Given the description of an element on the screen output the (x, y) to click on. 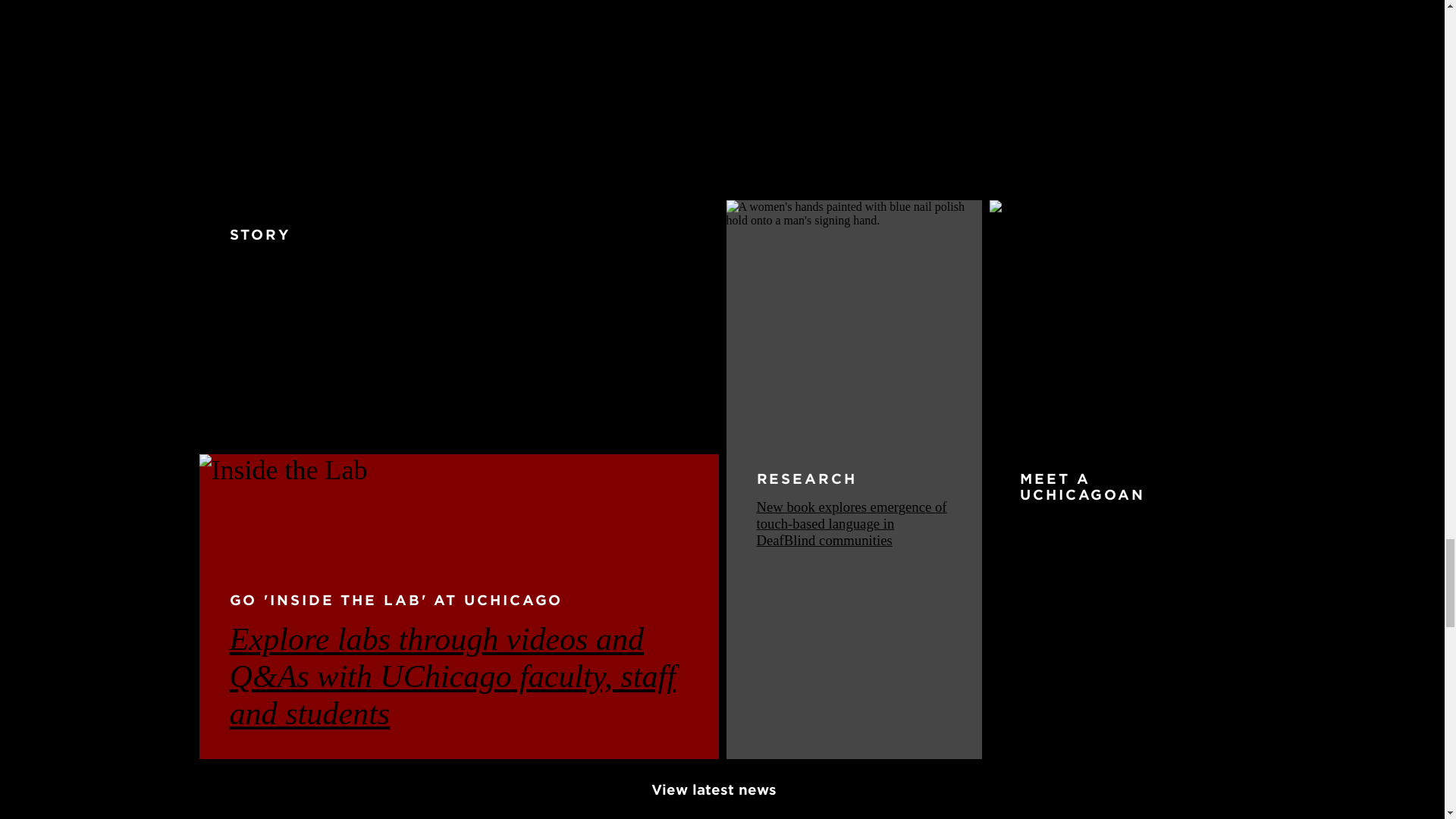
View latest news (721, 789)
